Given the description of an element on the screen output the (x, y) to click on. 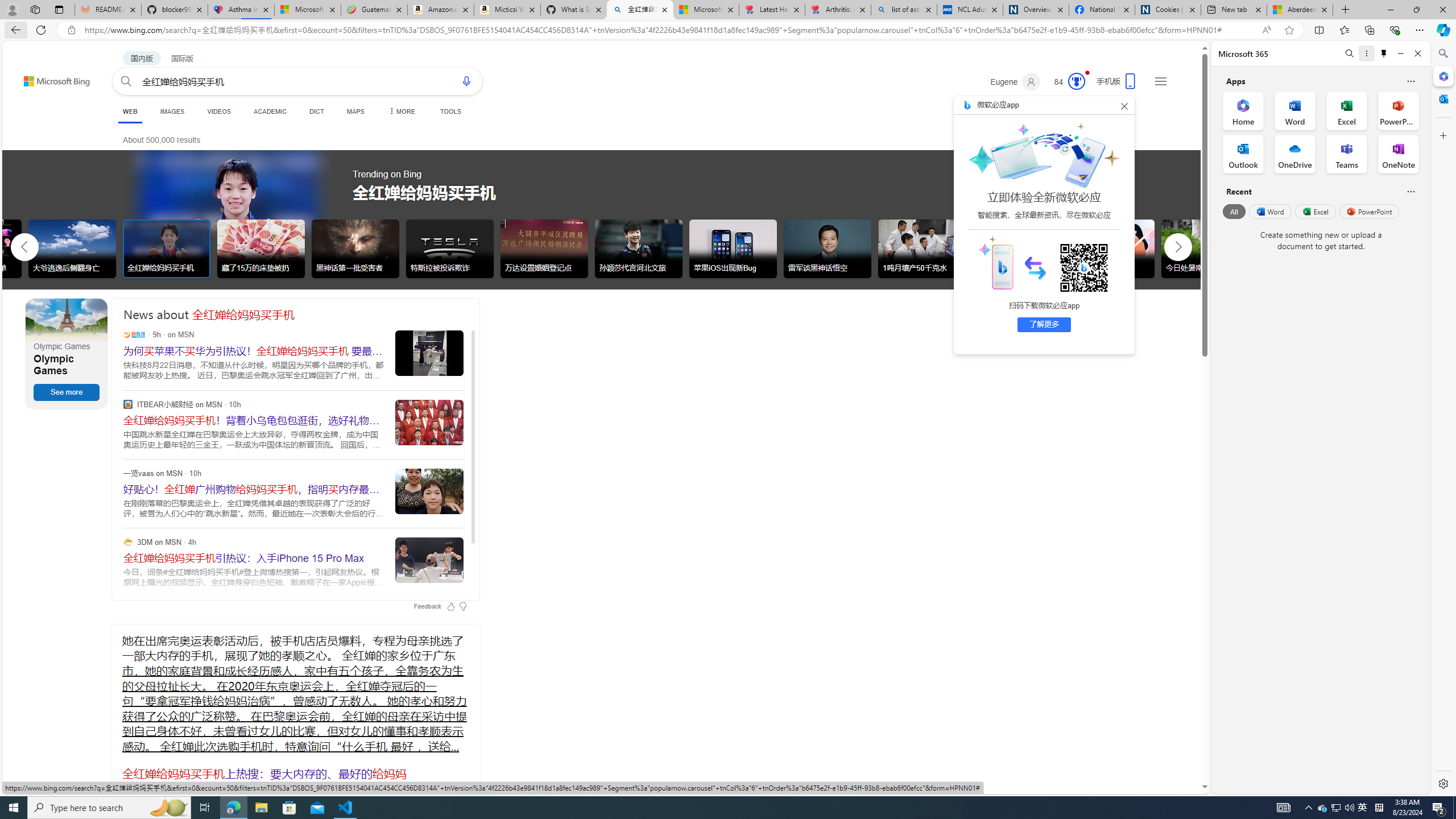
Excel Office App (1346, 110)
MAPS (355, 111)
IMAGES (172, 111)
ACADEMIC (269, 111)
PowerPoint (1369, 210)
VIDEOS (218, 111)
